Given the description of an element on the screen output the (x, y) to click on. 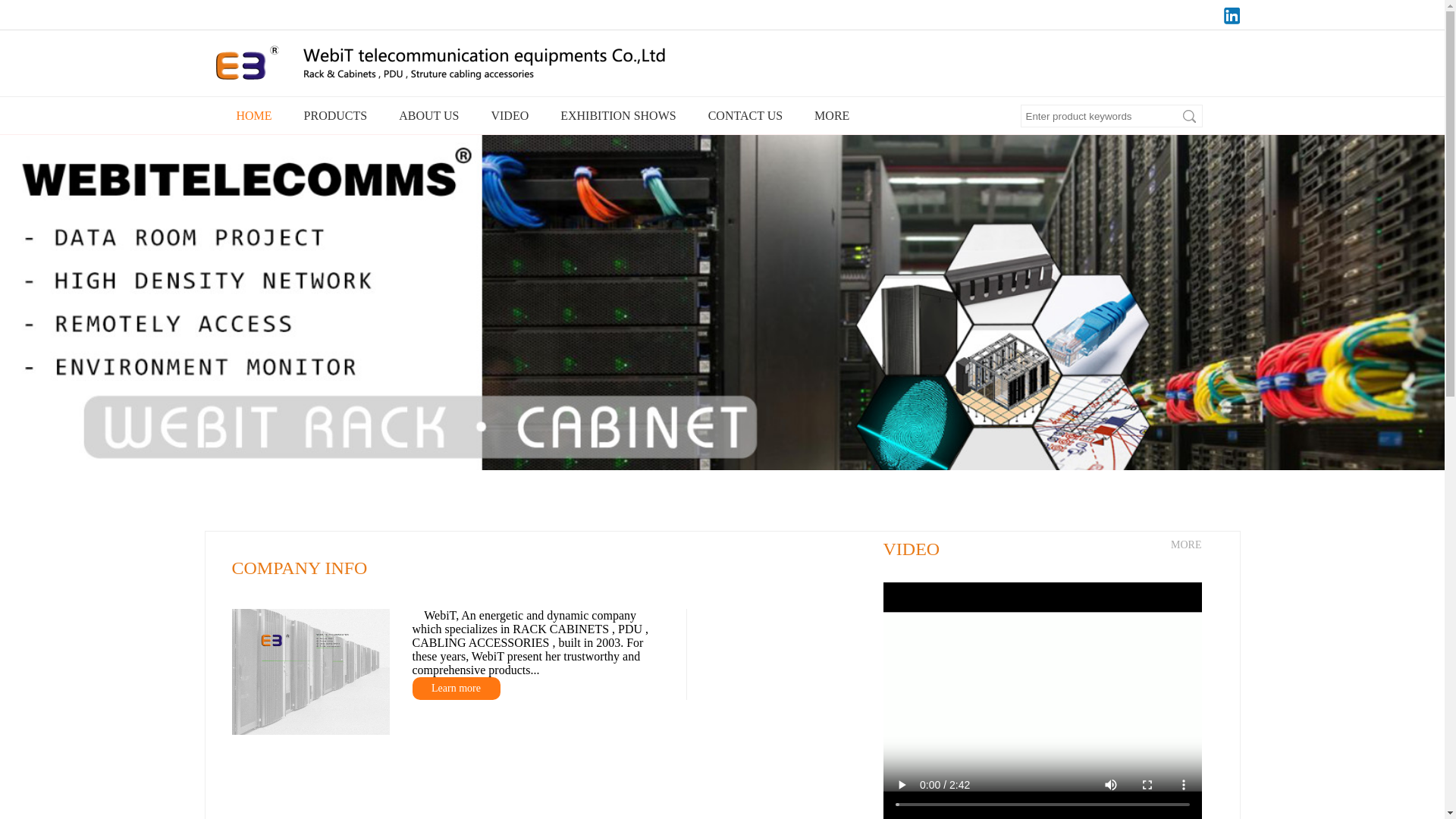
VIDEO Element type: text (504, 115)
EXHIBITION SHOWS Element type: text (613, 115)
CONTACT US Element type: text (740, 115)
HOME Element type: text (249, 115)
Learn more Element type: text (456, 688)
MORE Element type: text (1185, 545)
ABOUT US Element type: text (423, 115)
MORE Element type: text (827, 115)
PRODUCTS Element type: text (330, 115)
